Given the description of an element on the screen output the (x, y) to click on. 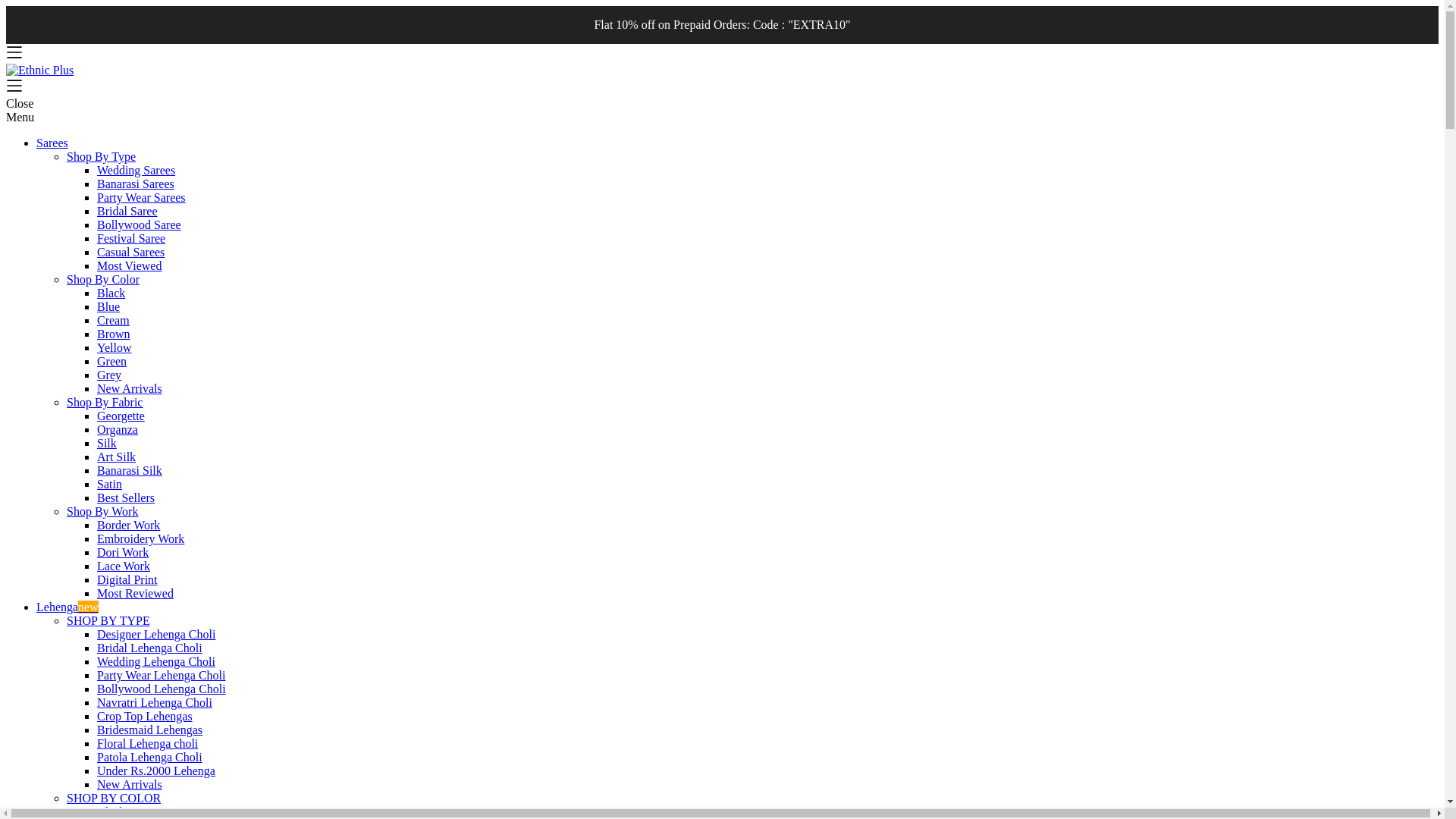
Black (111, 292)
Green (111, 360)
Casual Sarees (130, 251)
New Arrivals (129, 388)
Satin (109, 483)
Close (19, 103)
Brown (114, 333)
Art Silk (116, 456)
Most Viewed (129, 265)
Shop By Work (102, 511)
Menu (19, 116)
Party Wear Sarees (141, 196)
Embroidery Work (140, 538)
Shop By Fabric (104, 401)
Banarasi Sarees (135, 183)
